Given the description of an element on the screen output the (x, y) to click on. 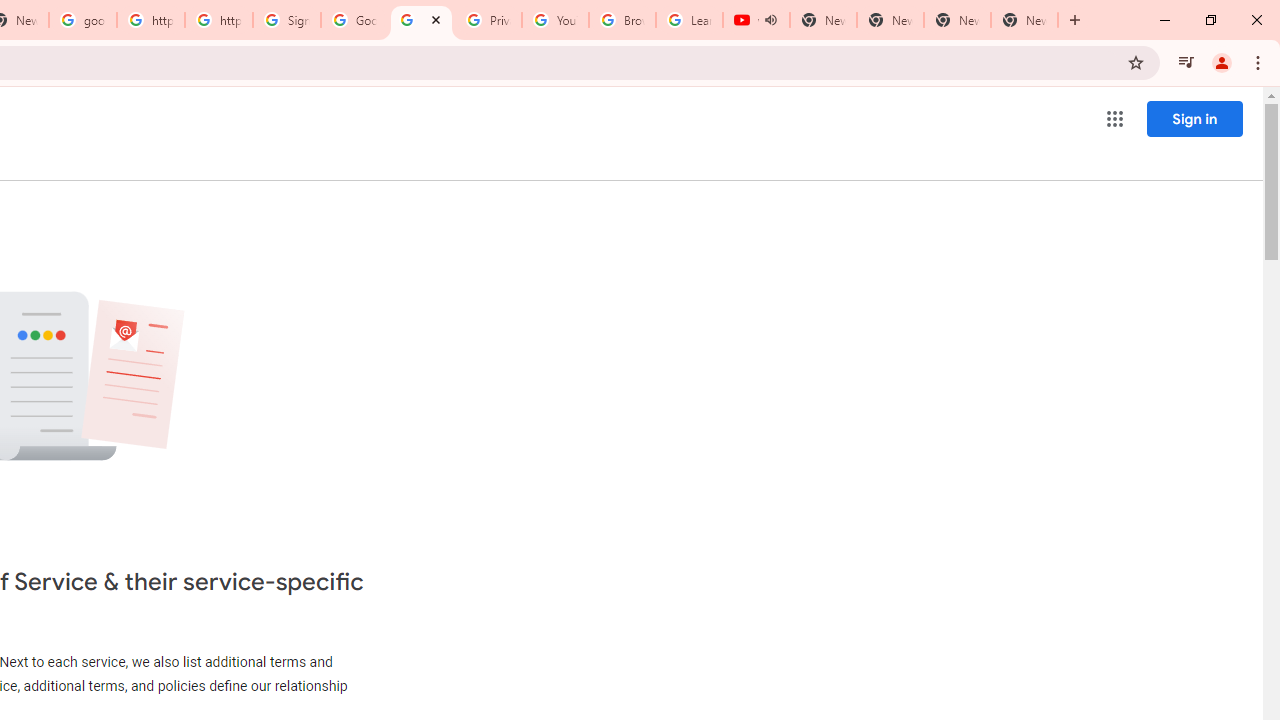
Sign in - Google Accounts (287, 20)
https://scholar.google.com/ (219, 20)
